Given the description of an element on the screen output the (x, y) to click on. 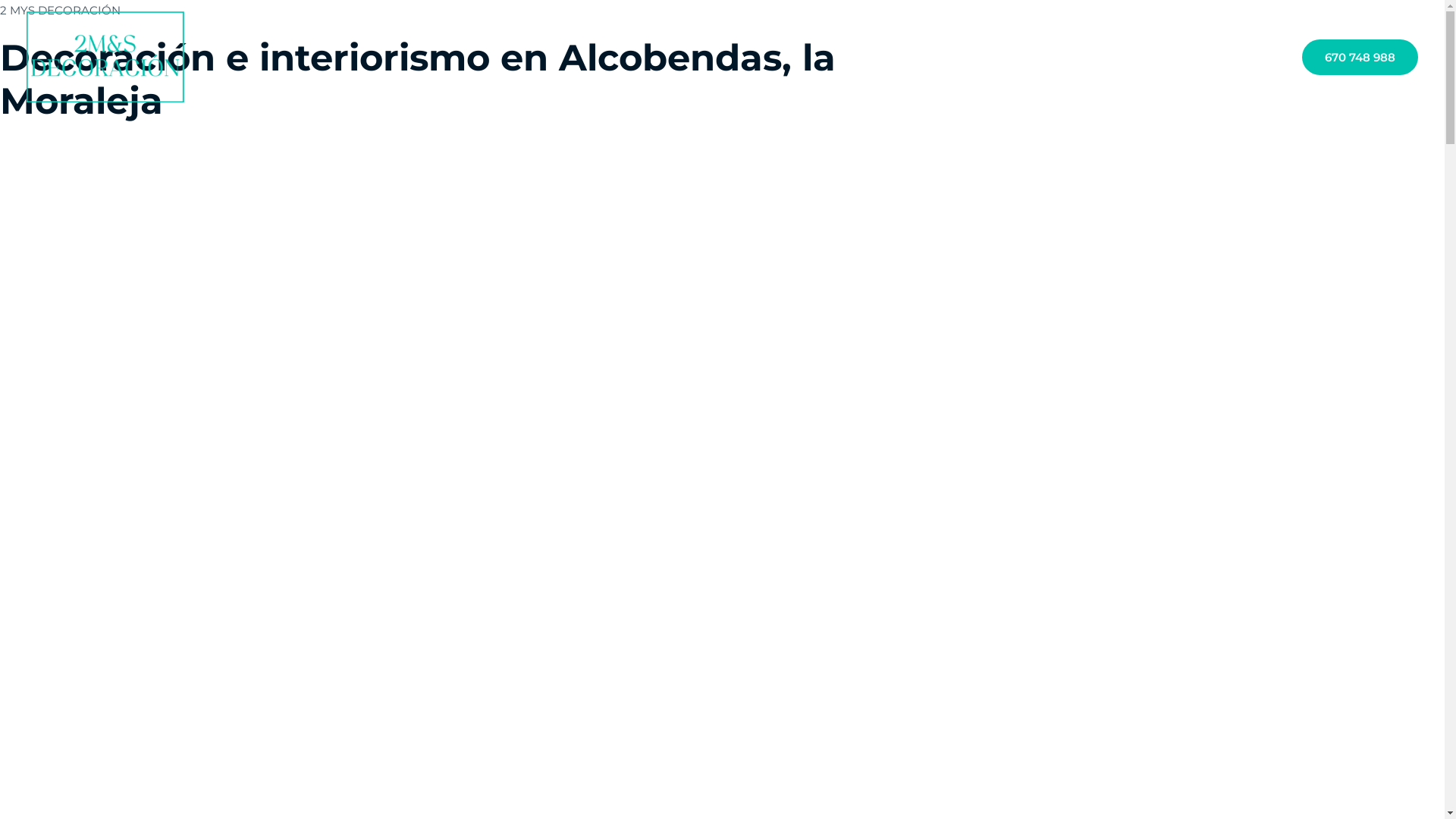
Servicios Element type: text (1176, 58)
Sobre nosotros Element type: text (1088, 58)
670 748 988 Element type: text (1360, 57)
Contacto Element type: text (1249, 58)
